Given the description of an element on the screen output the (x, y) to click on. 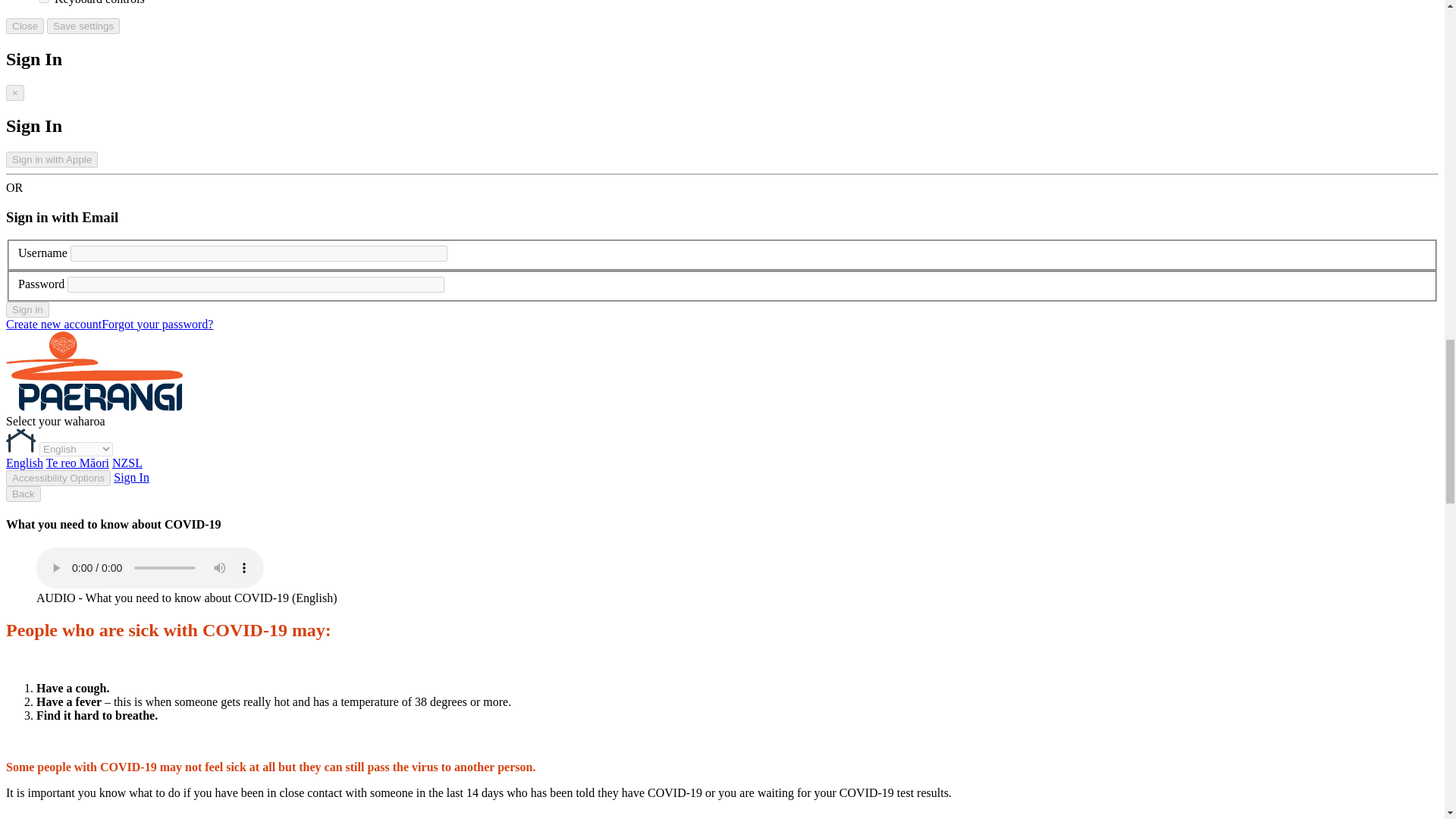
Save settings (82, 26)
Sign in (27, 309)
1 (44, 1)
